Given the description of an element on the screen output the (x, y) to click on. 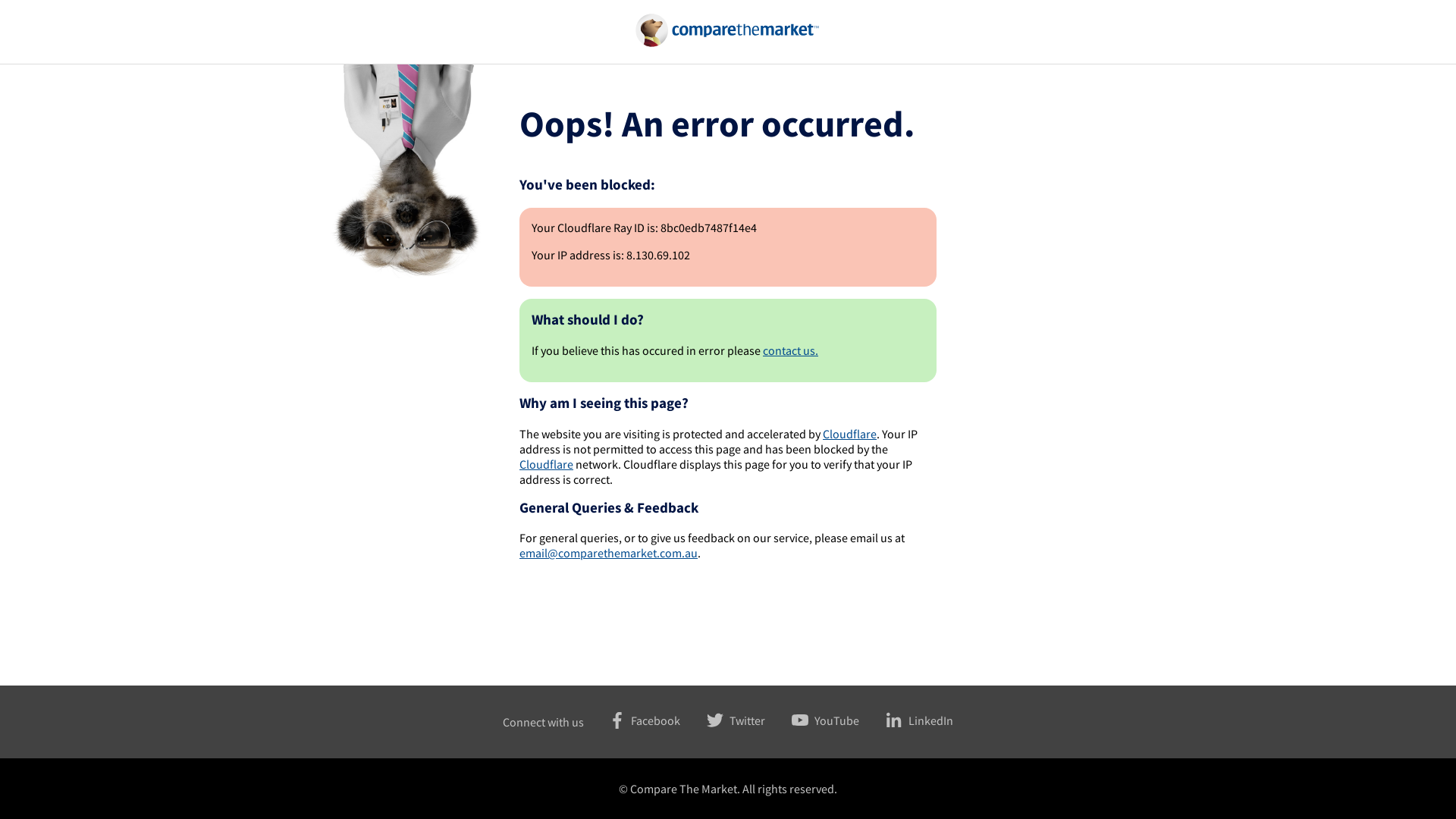
LinkedIn (907, 719)
Twitter (723, 719)
Logo YouTube (800, 719)
Logo Twitter (714, 719)
Facebook (631, 719)
Cloudflare (849, 433)
Logo CompareTheMarket (727, 29)
Cloudflare (546, 463)
Logo LinkedIn (893, 719)
Logo Facebook (616, 719)
